Given the description of an element on the screen output the (x, y) to click on. 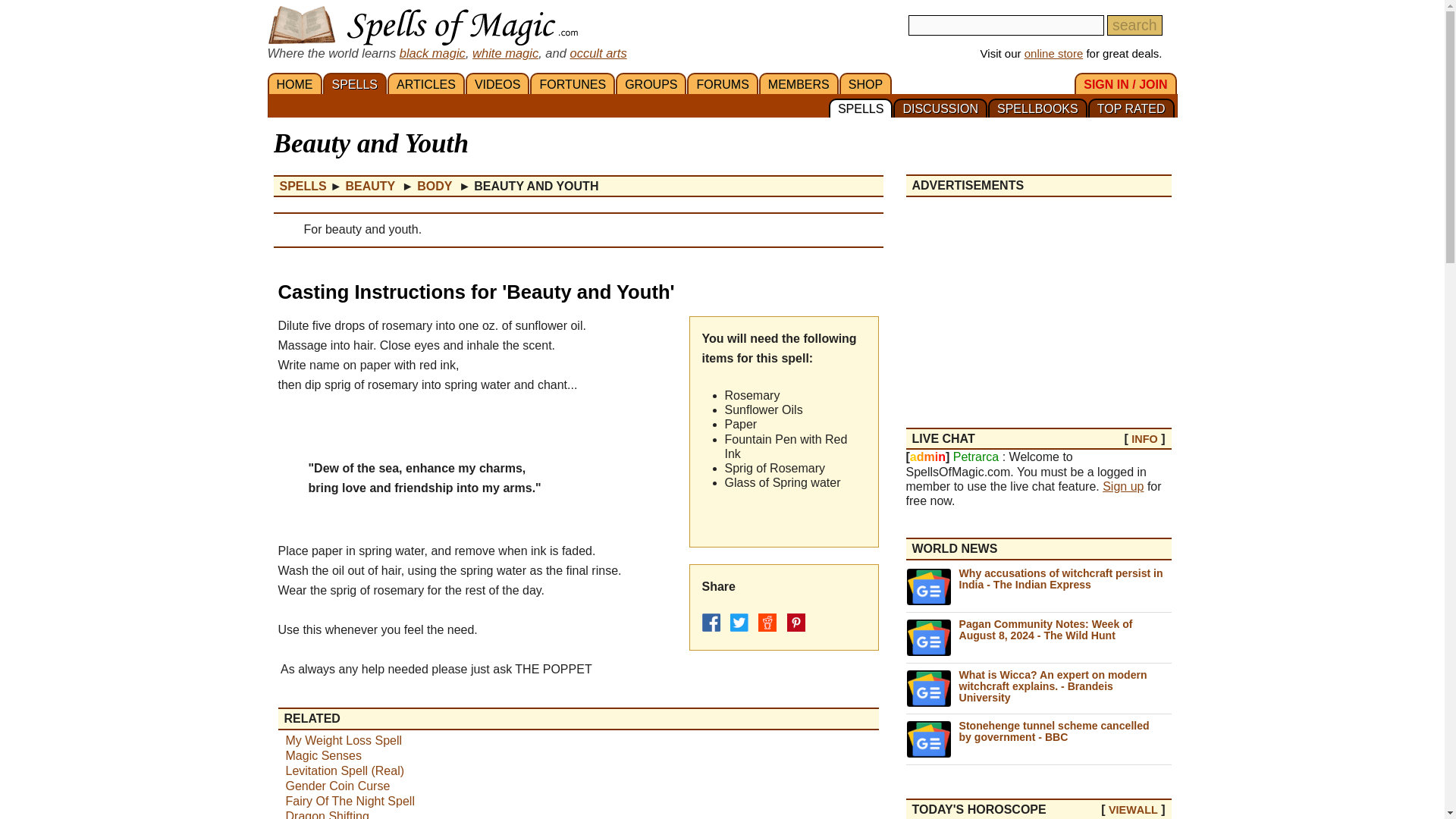
Share on Facebook (710, 622)
online store (1054, 52)
search (1133, 25)
black magic (431, 52)
occult arts (597, 52)
search (1133, 25)
white magic (504, 52)
Tweet This (739, 622)
